Given the description of an element on the screen output the (x, y) to click on. 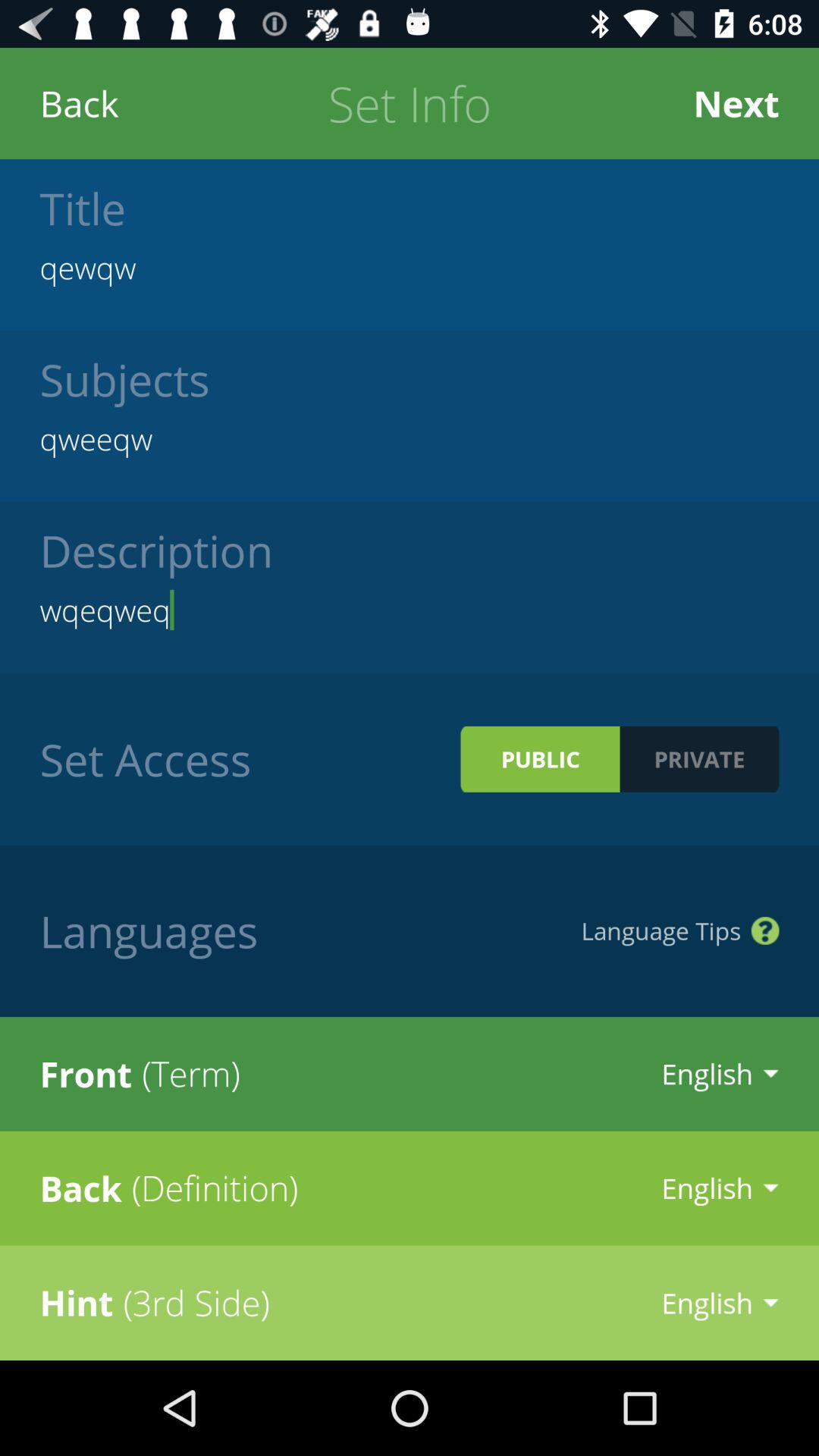
press item next to the private icon (539, 759)
